Given the description of an element on the screen output the (x, y) to click on. 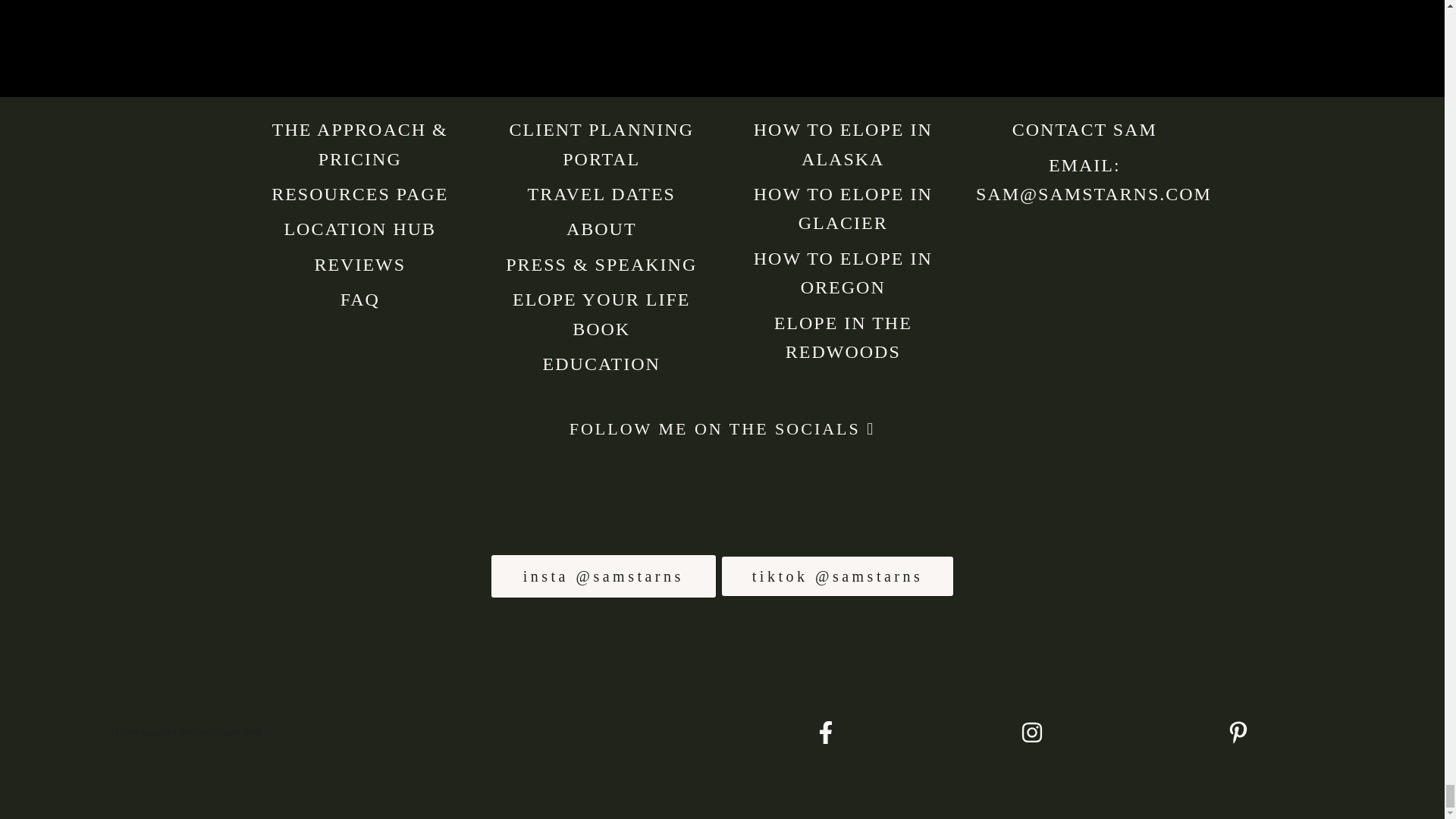
LOCATION HUB (359, 229)
RESOURCES PAGE (359, 193)
